Given the description of an element on the screen output the (x, y) to click on. 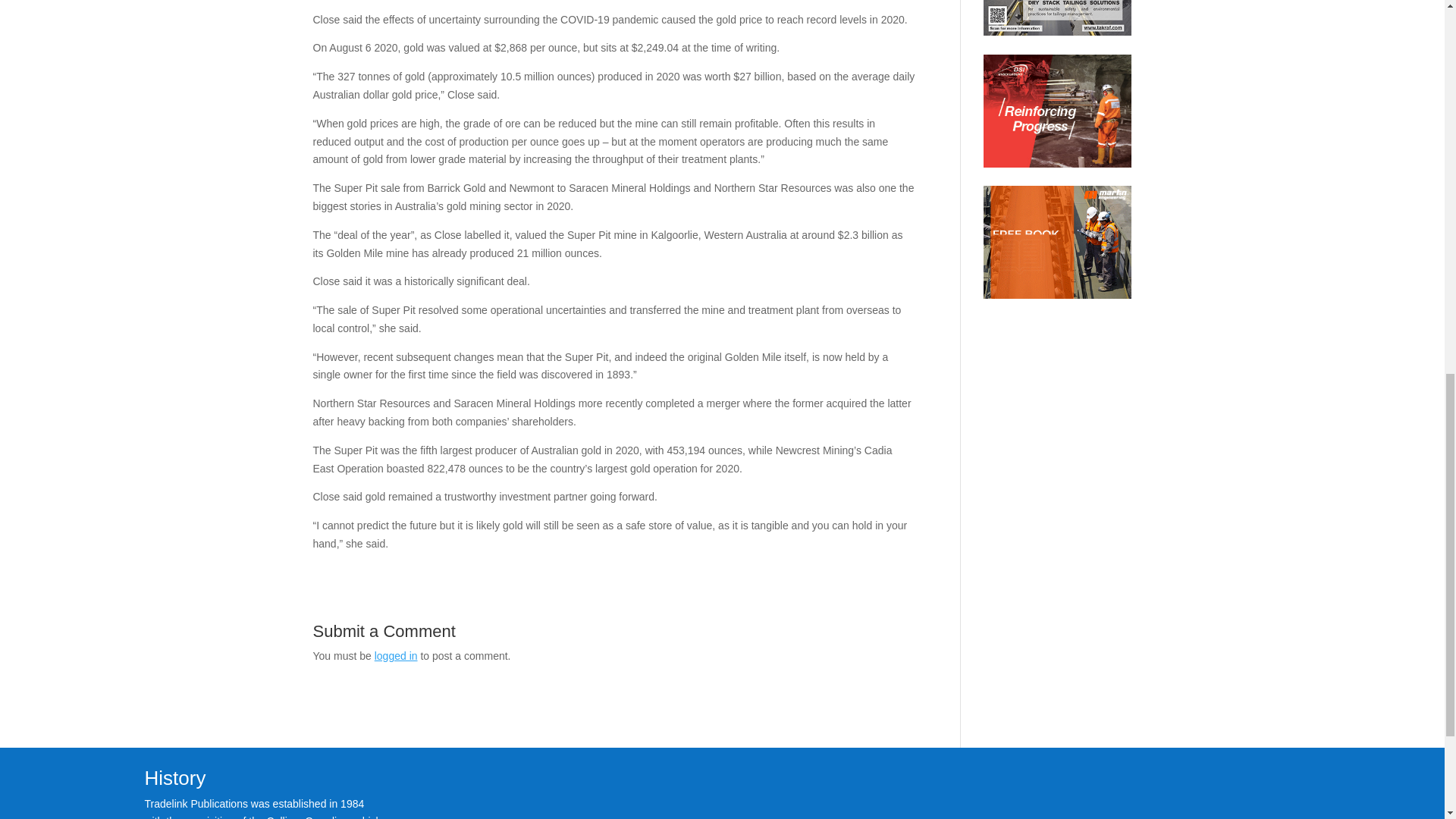
logged in (395, 655)
